Given the description of an element on the screen output the (x, y) to click on. 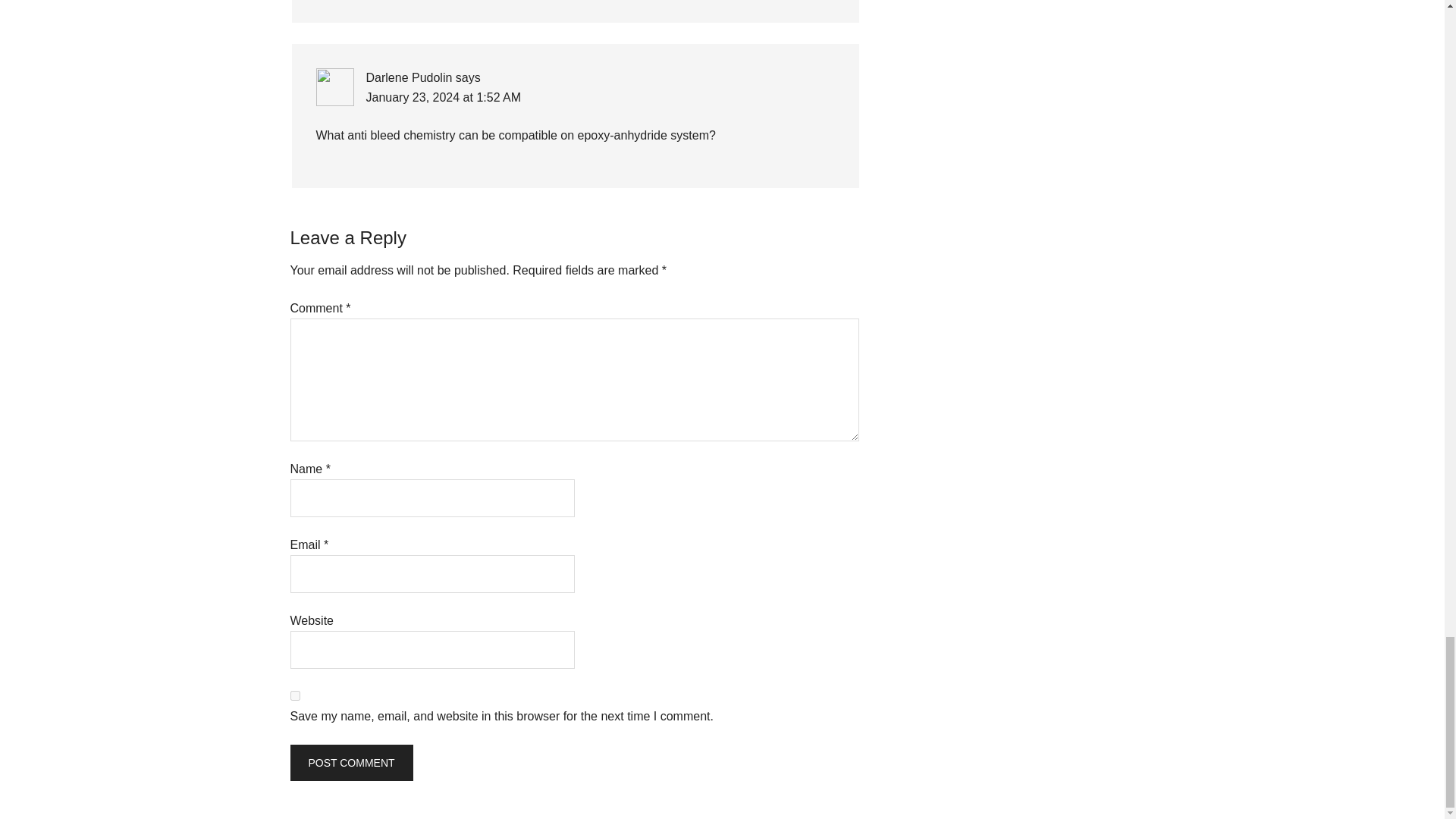
yes (294, 696)
January 23, 2024 at 1:52 AM (443, 97)
Post Comment (350, 762)
